Given the description of an element on the screen output the (x, y) to click on. 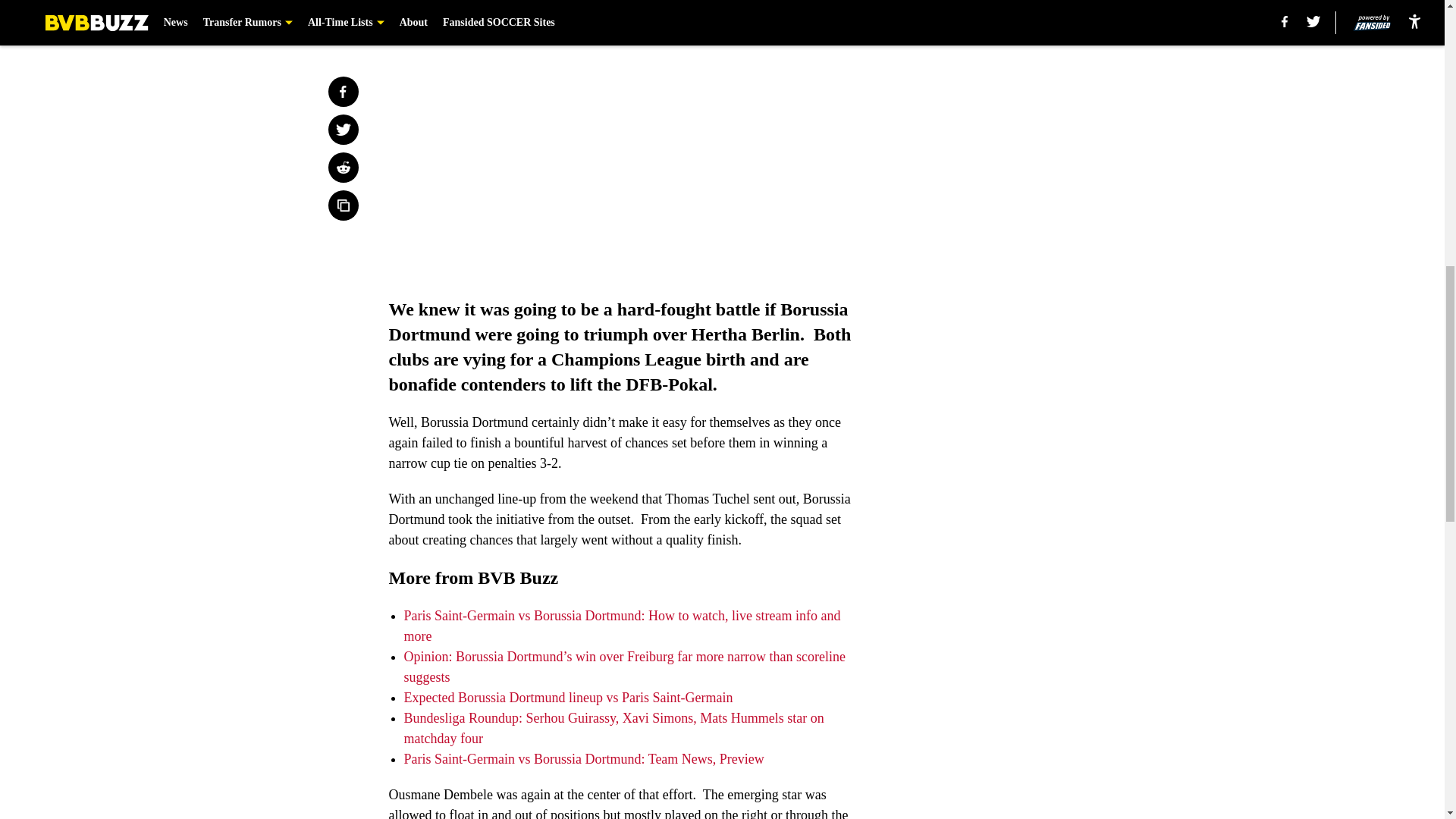
Paris Saint-Germain vs Borussia Dortmund: Team News, Preview (582, 758)
Expected Borussia Dortmund lineup vs Paris Saint-Germain (567, 697)
